Given the description of an element on the screen output the (x, y) to click on. 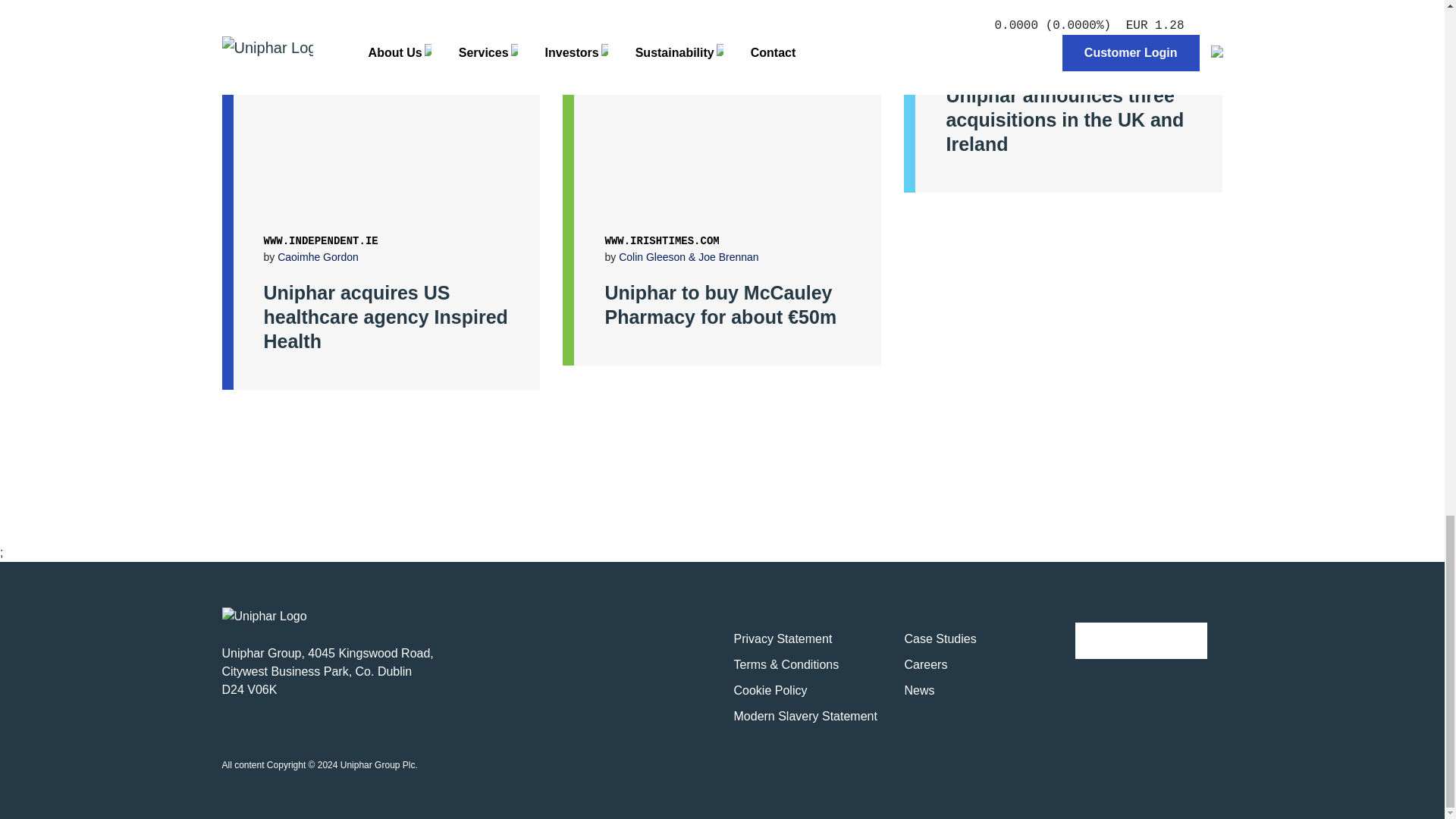
Caoimhe Gordon (318, 256)
Privacy Policy (782, 638)
News (919, 689)
Modern Slavery Statement (805, 716)
Uniphar acquires US healthcare agency Inspired Health (394, 316)
Careers (925, 664)
Case Studies (939, 638)
Cookie Policy (770, 689)
